Given the description of an element on the screen output the (x, y) to click on. 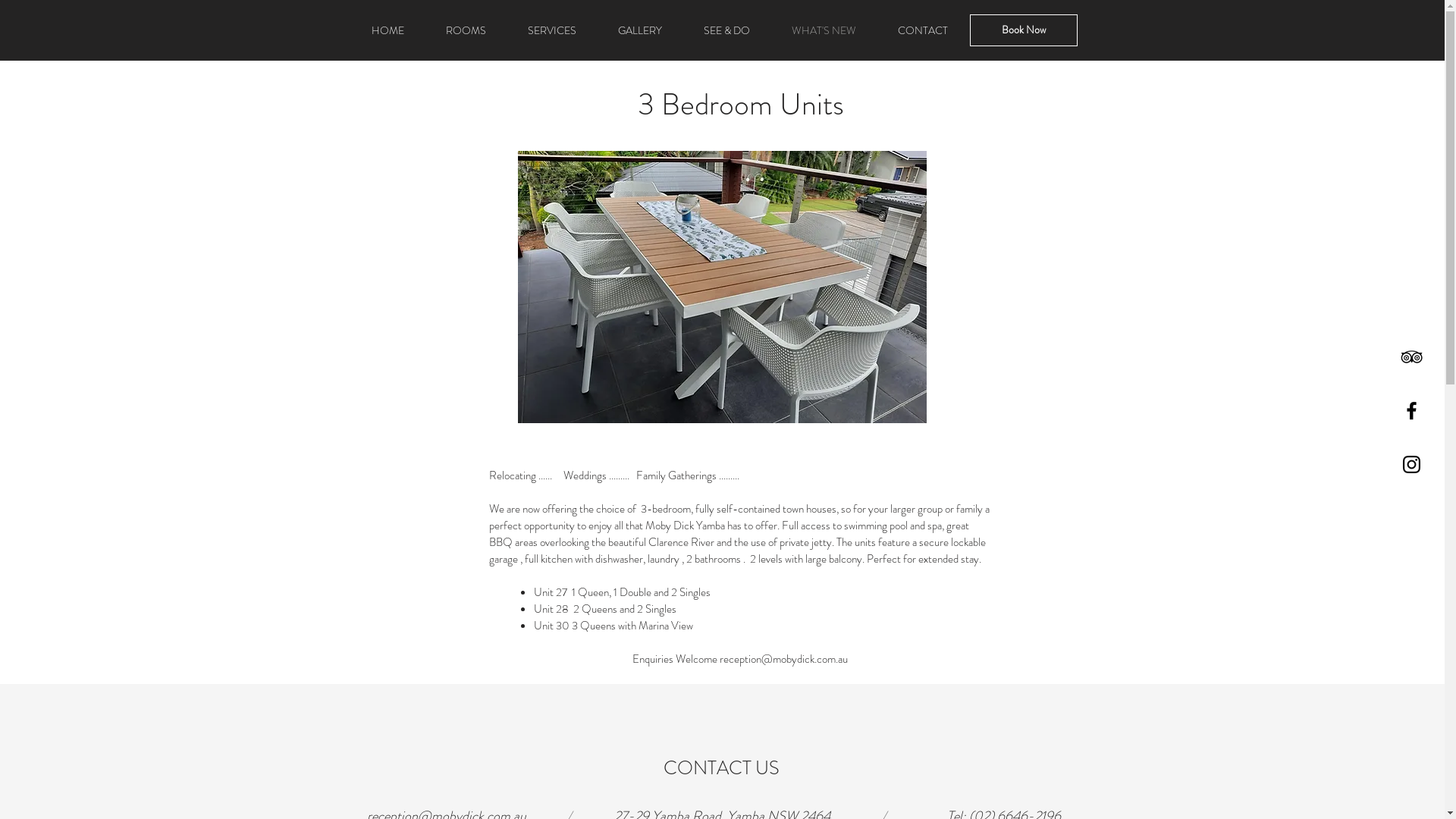
SERVICES Element type: text (551, 30)
reception@mobydick.com.au Element type: text (782, 658)
SEE & DO Element type: text (726, 30)
GALLERY Element type: text (640, 30)
HOME Element type: text (387, 30)
WHAT'S NEW Element type: text (823, 30)
Book Now Element type: text (1022, 30)
CONTACT Element type: text (922, 30)
ROOMS Element type: text (465, 30)
